Given the description of an element on the screen output the (x, y) to click on. 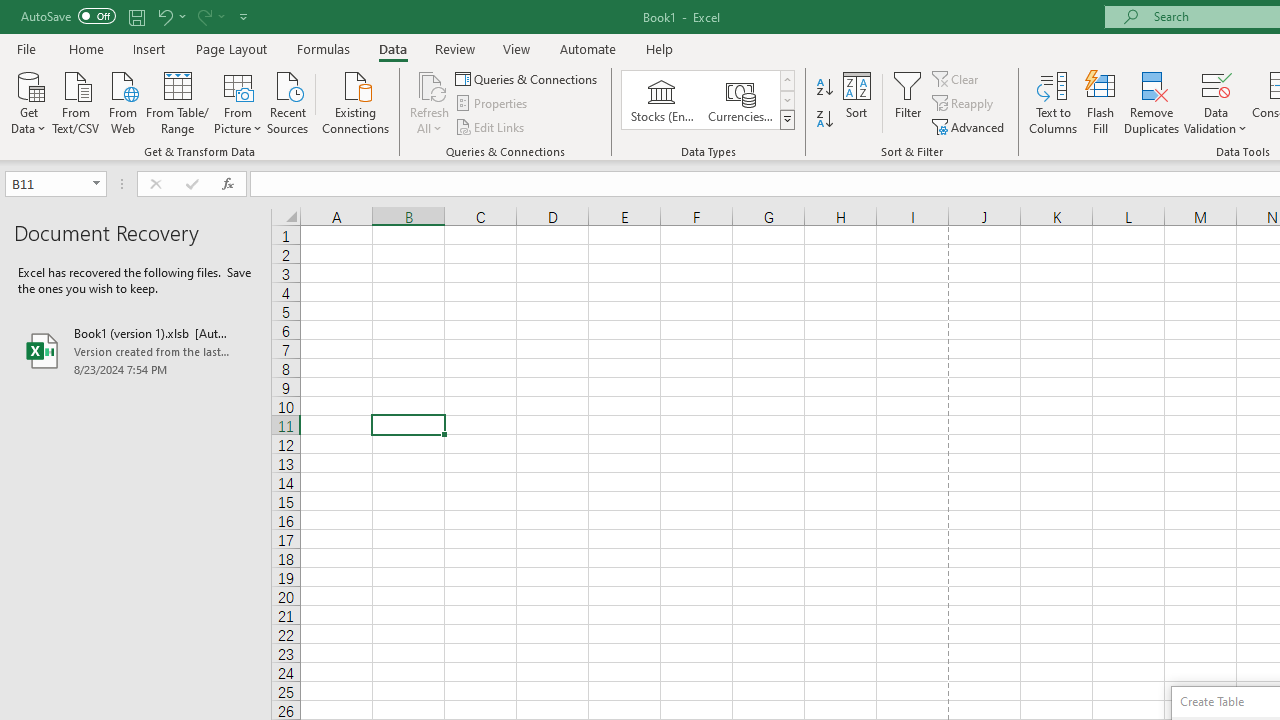
From Picture (238, 101)
Row up (786, 79)
Properties (492, 103)
Currencies (English) (740, 100)
Filter (908, 102)
